Given the description of an element on the screen output the (x, y) to click on. 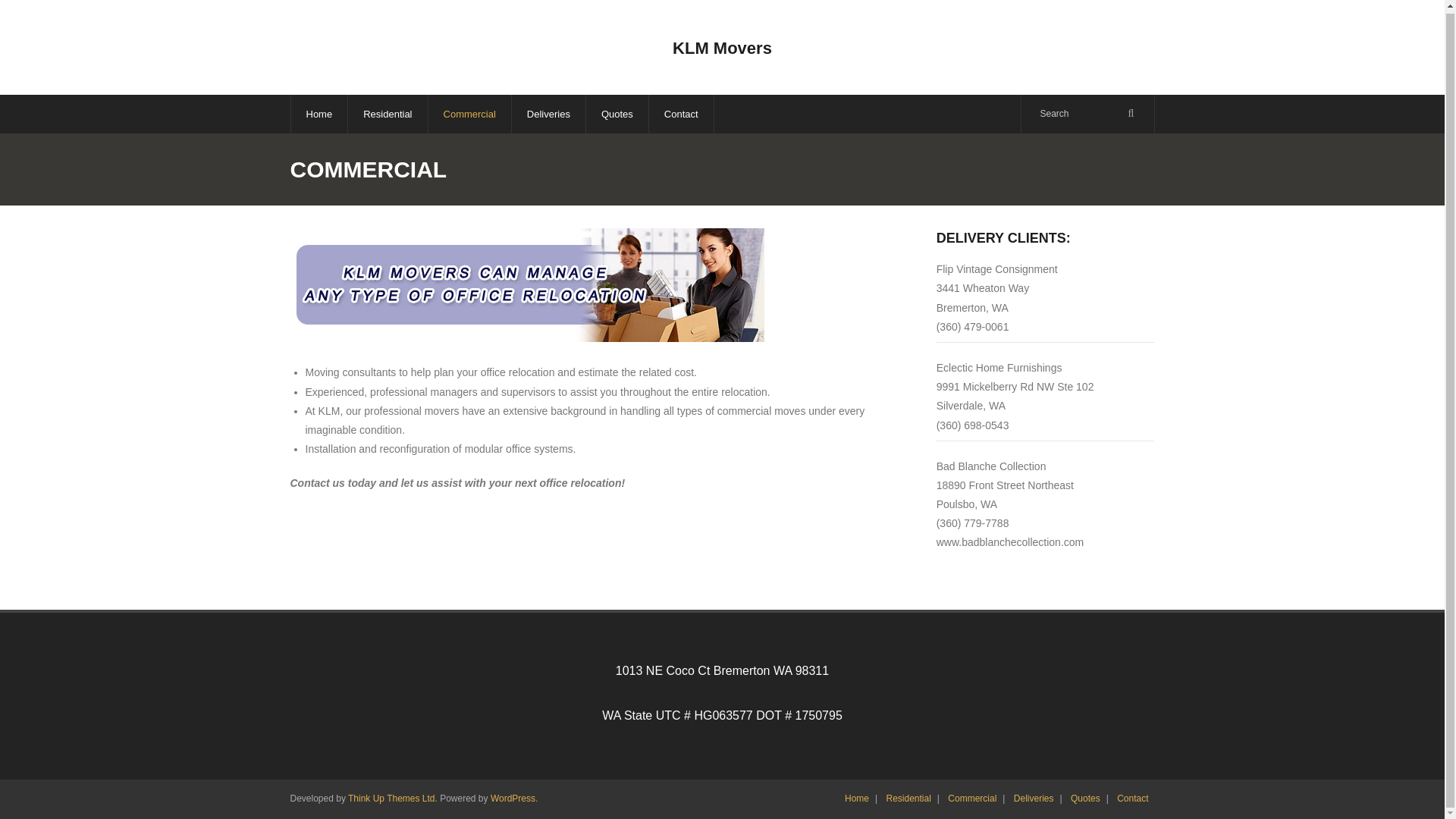
Deliveries (1033, 798)
Residential (386, 114)
Commercial (469, 114)
Search (33, 14)
KLM Movers (721, 48)
WordPress (512, 798)
www.badblanchecollection.com (1010, 541)
Quotes (616, 114)
Think Up Themes Ltd (391, 798)
Home (318, 114)
Contact (1132, 798)
Quotes (1085, 798)
Contact (680, 114)
Deliveries (548, 114)
KLM Movers (721, 48)
